Given the description of an element on the screen output the (x, y) to click on. 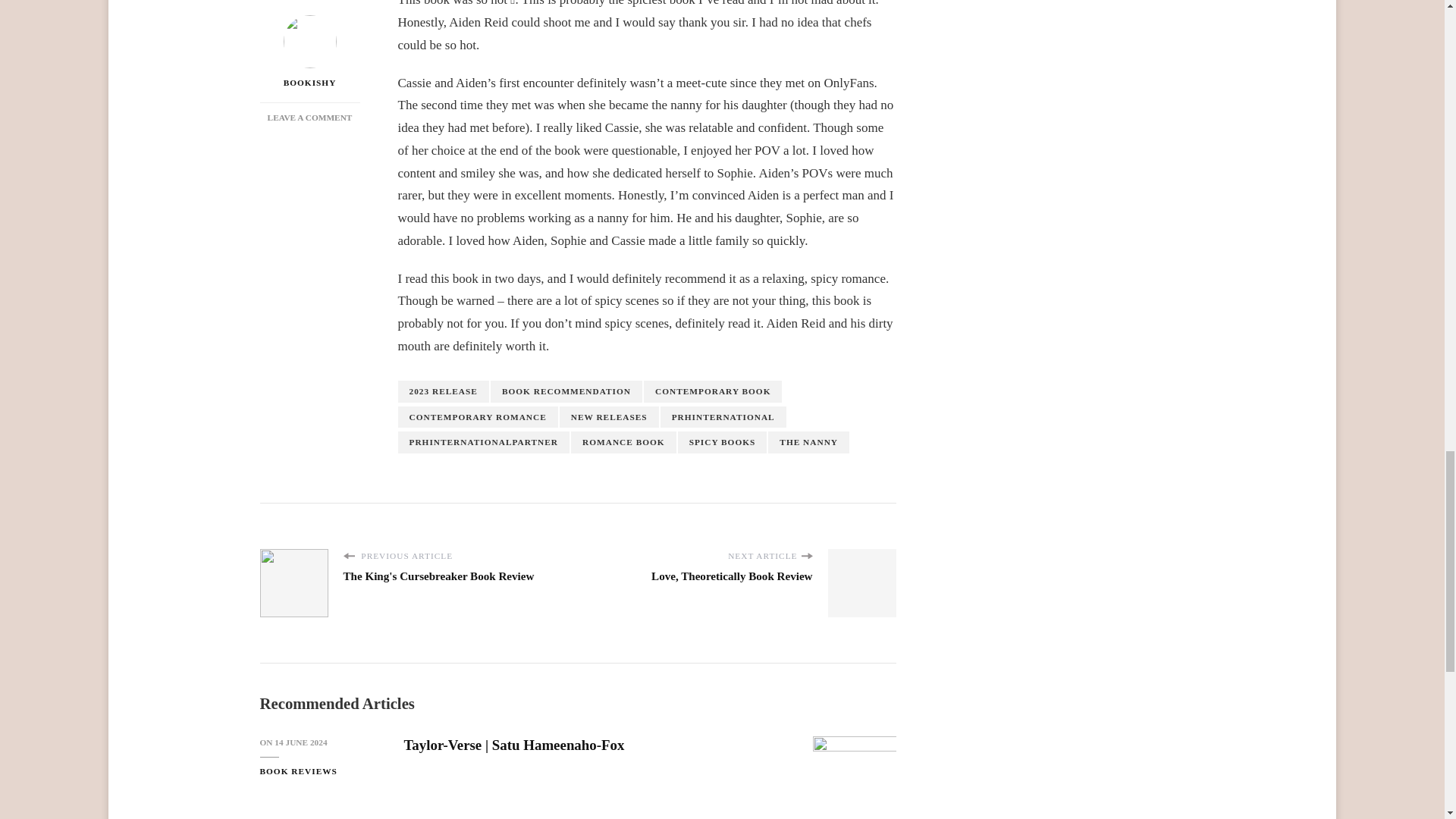
SPICY BOOKS (722, 442)
CONTEMPORARY BOOK (712, 391)
BOOK REVIEWS (297, 771)
14 JUNE 2024 (300, 742)
ROMANCE BOOK (623, 442)
CONTEMPORARY ROMANCE (477, 417)
THE NANNY (808, 442)
2023 RELEASE (442, 391)
PRHINTERNATIONAL (723, 417)
BOOK RECOMMENDATION (566, 391)
PRHINTERNATIONALPARTNER (483, 442)
NEW RELEASES (609, 417)
